Given the description of an element on the screen output the (x, y) to click on. 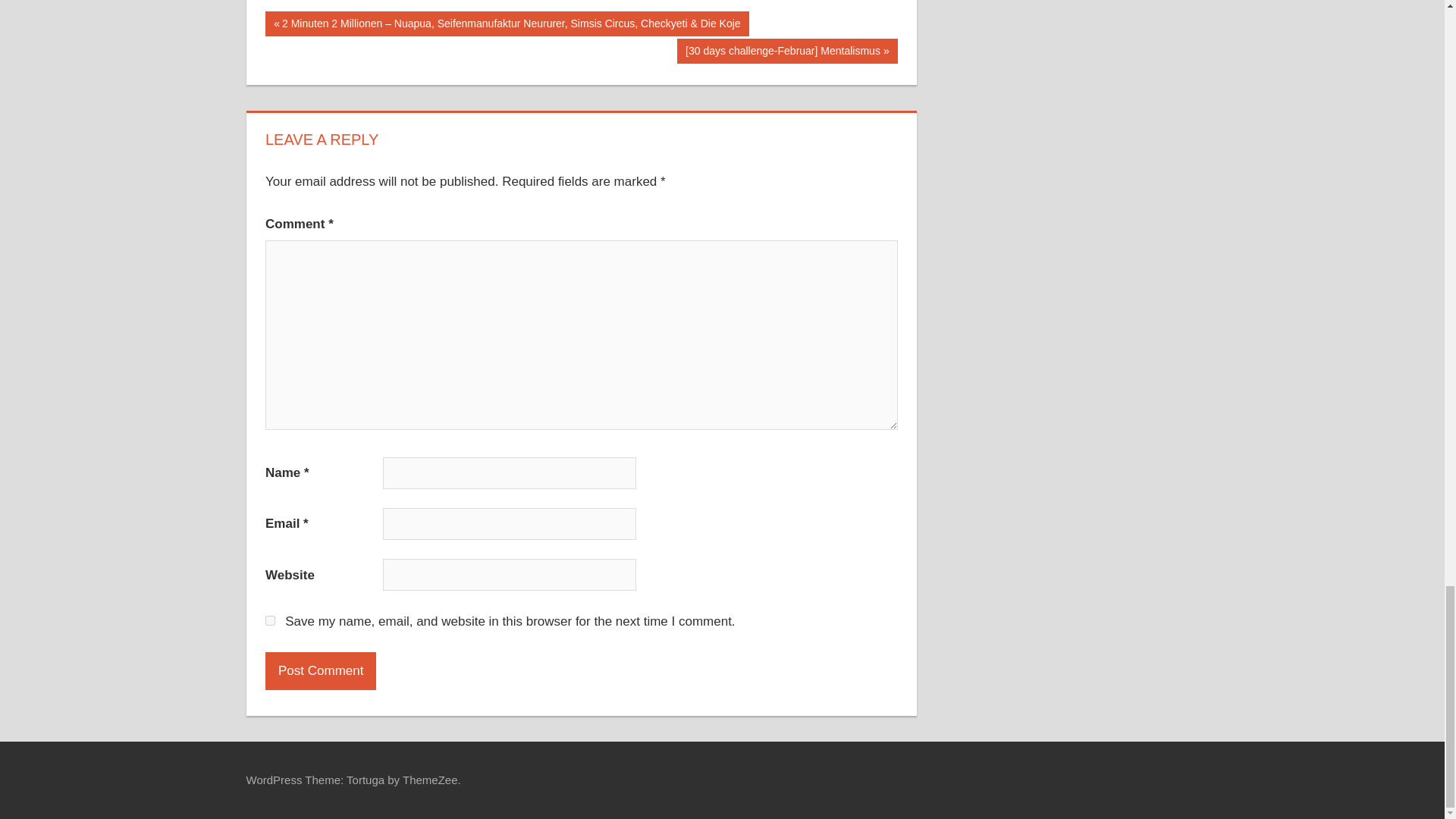
Post Comment (319, 670)
yes (269, 620)
Post Comment (319, 670)
